Given the description of an element on the screen output the (x, y) to click on. 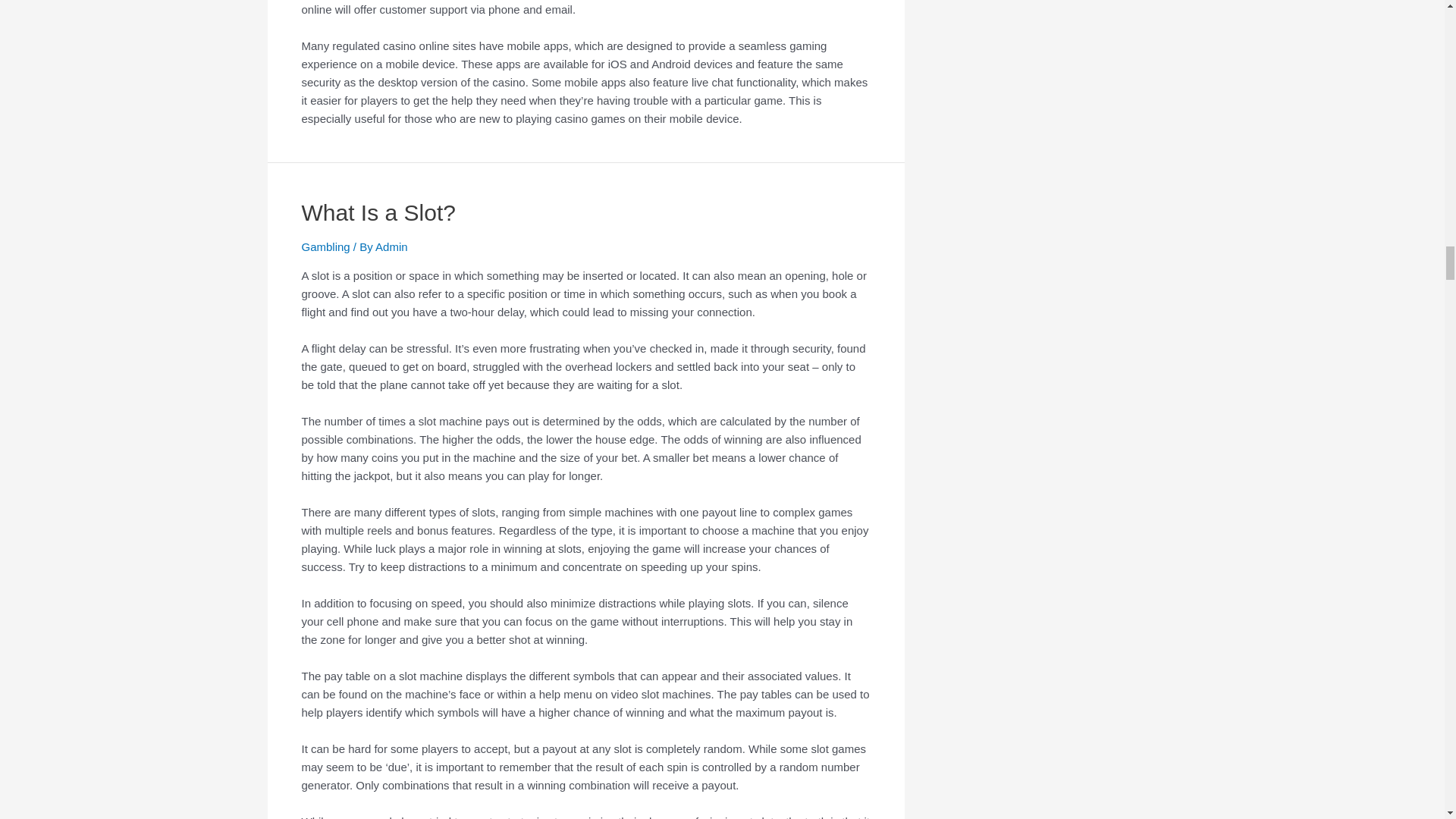
Gambling (325, 246)
Admin (391, 246)
What Is a Slot? (378, 212)
View all posts by Admin (391, 246)
